Given the description of an element on the screen output the (x, y) to click on. 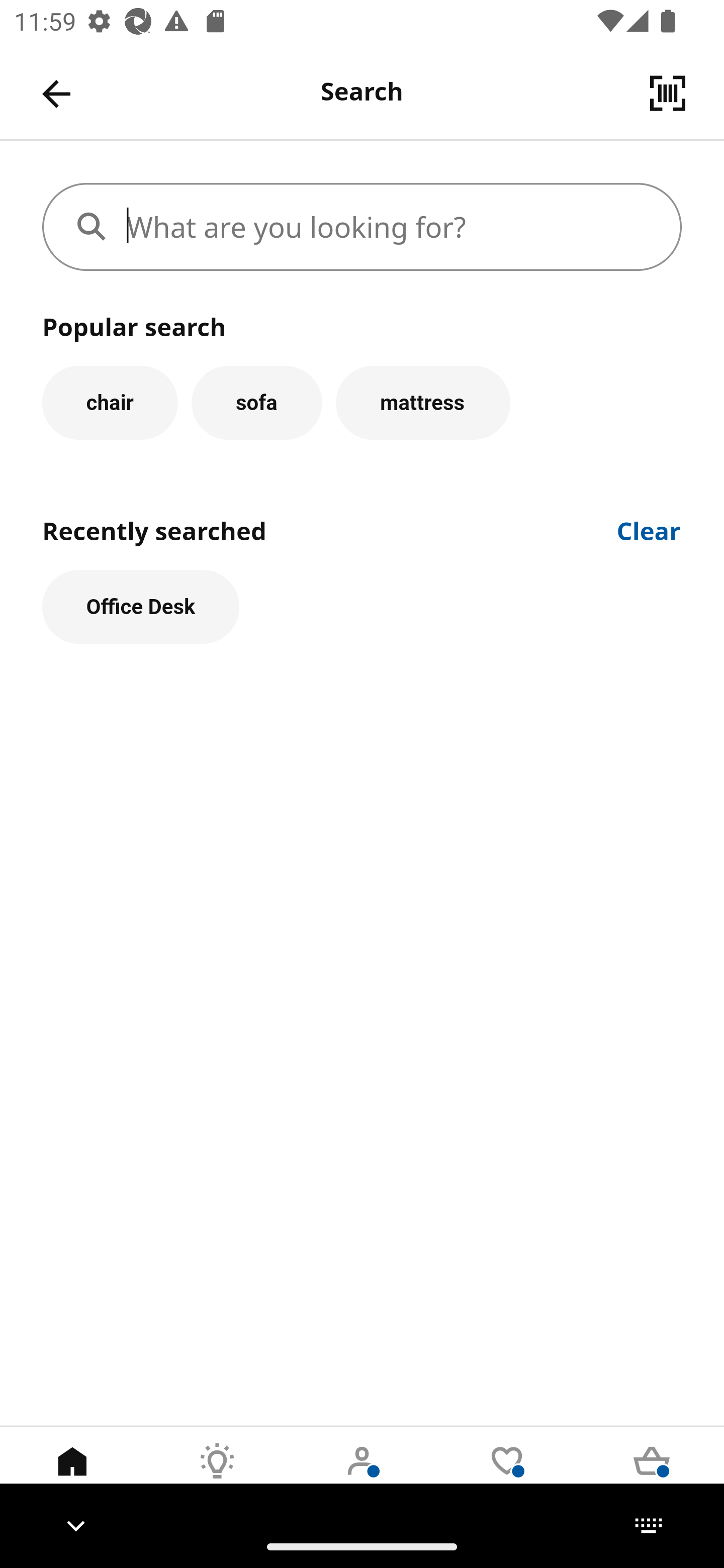
chair (109, 402)
sofa (256, 402)
mattress (423, 402)
Clear (649, 528)
Office Desk (140, 606)
Home
Tab 1 of 5 (72, 1476)
Inspirations
Tab 2 of 5 (216, 1476)
User
Tab 3 of 5 (361, 1476)
Wishlist
Tab 4 of 5 (506, 1476)
Cart
Tab 5 of 5 (651, 1476)
